Given the description of an element on the screen output the (x, y) to click on. 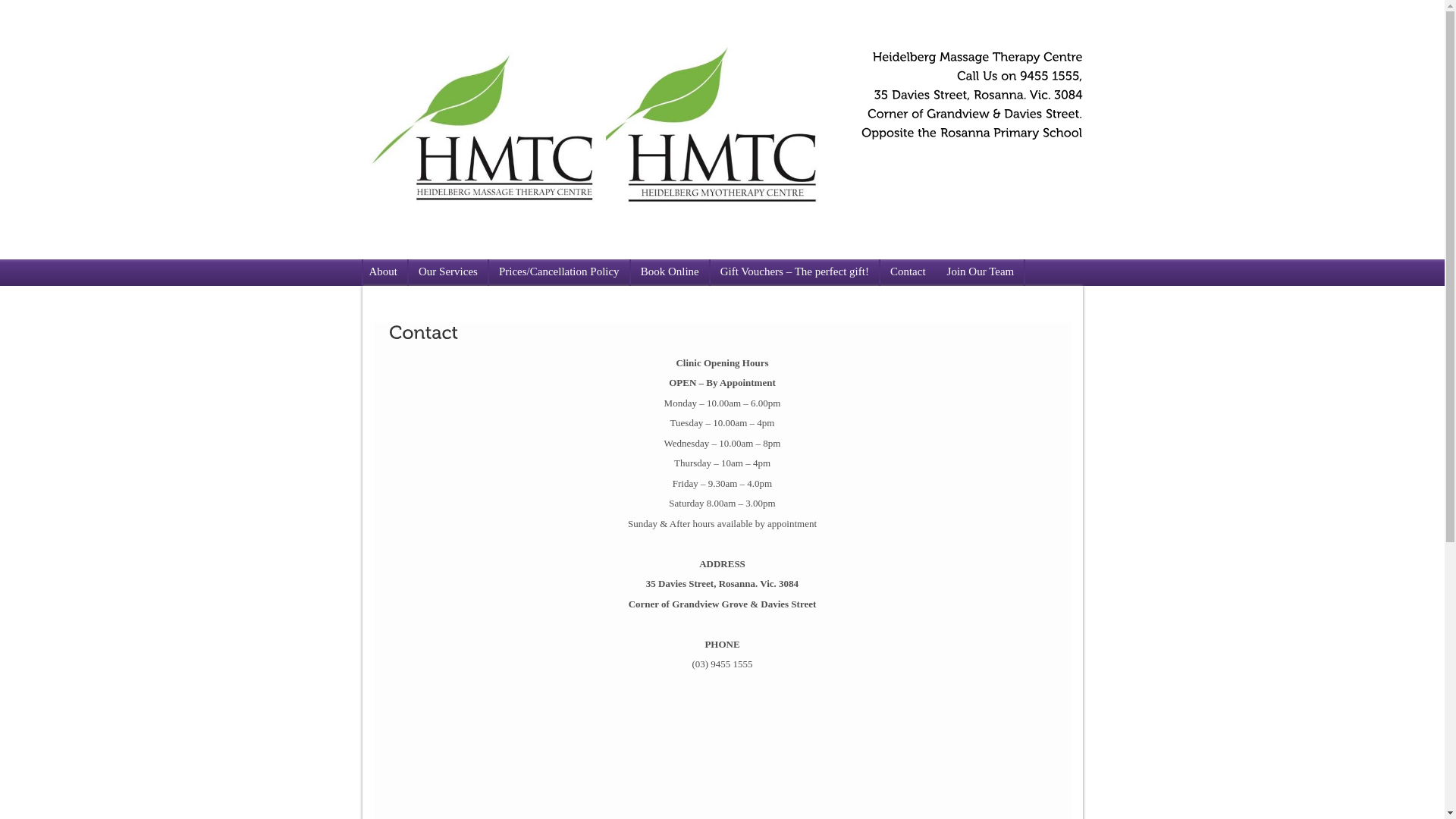
Our Services Element type: text (448, 272)
About Element type: text (384, 272)
Book Online Element type: text (670, 272)
Join Our Team Element type: text (981, 272)
Prices/Cancellation Policy Element type: text (559, 272)
Contact Element type: text (908, 272)
